Given the description of an element on the screen output the (x, y) to click on. 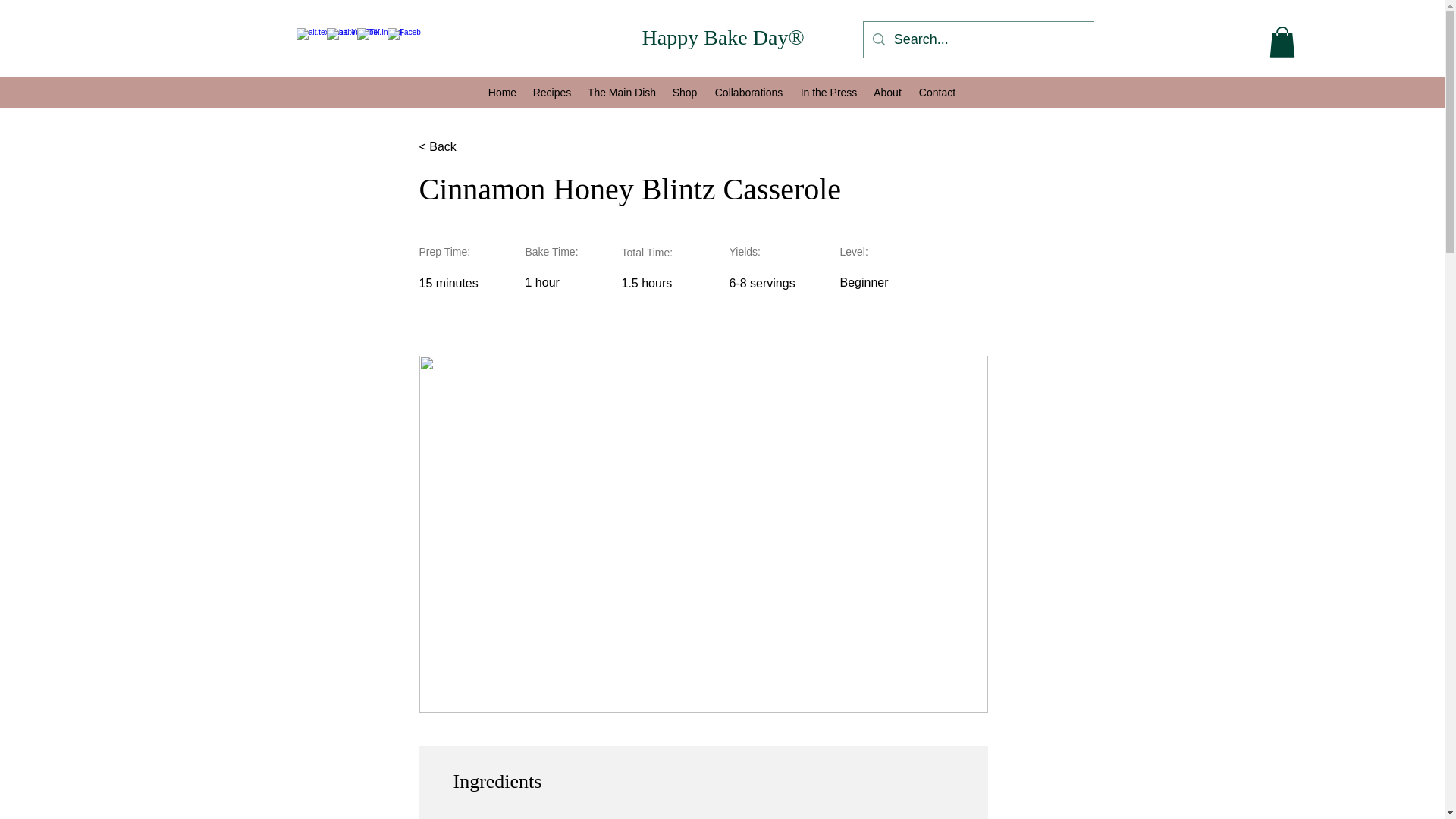
In the Press (828, 92)
Shop (683, 92)
The Main Dish (621, 92)
Contact (936, 92)
Home (502, 92)
Collaborations (748, 92)
Recipes (551, 92)
About (887, 92)
